Given the description of an element on the screen output the (x, y) to click on. 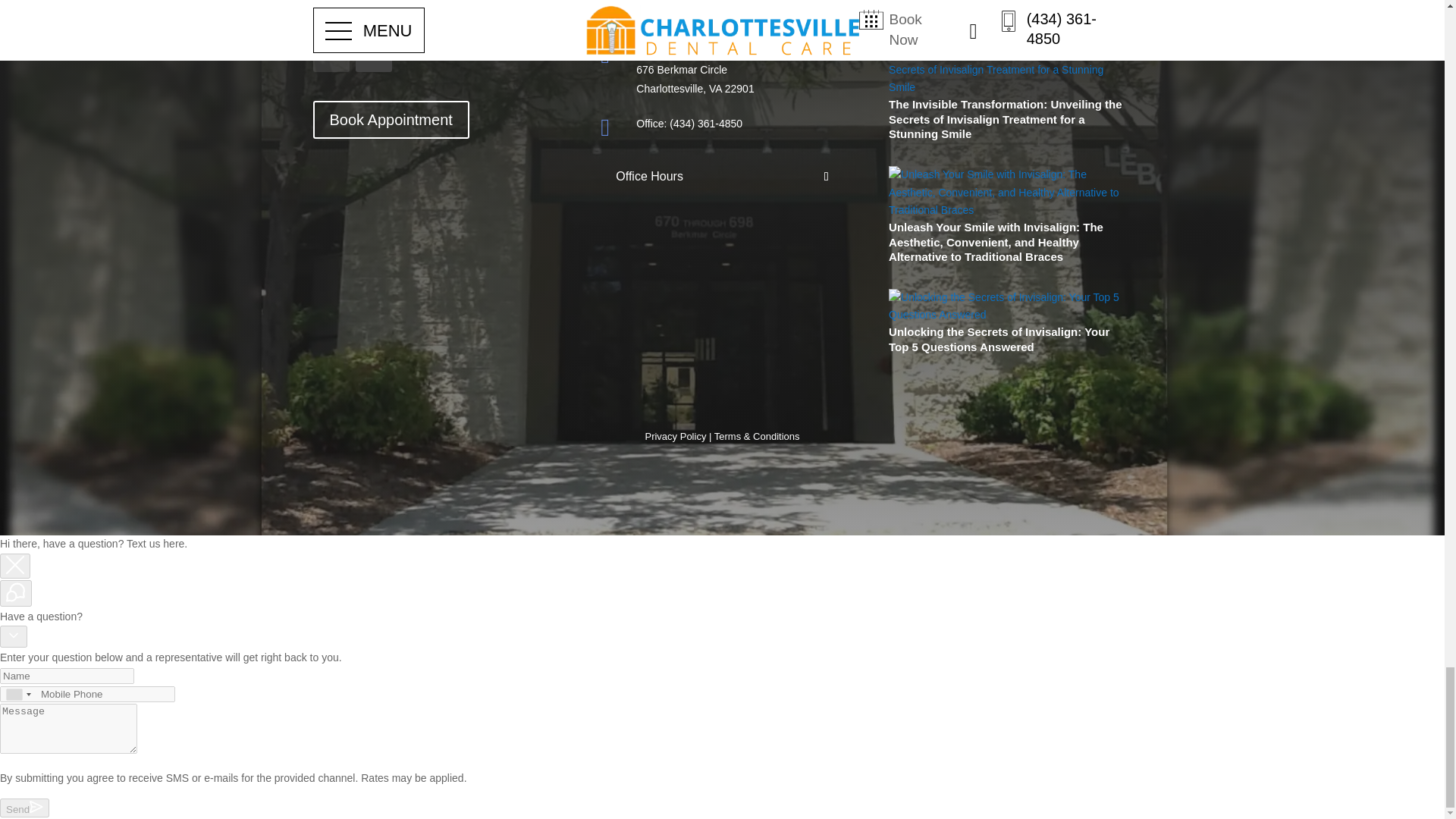
Follow on Google (373, 54)
Follow on Facebook (331, 54)
